Given the description of an element on the screen output the (x, y) to click on. 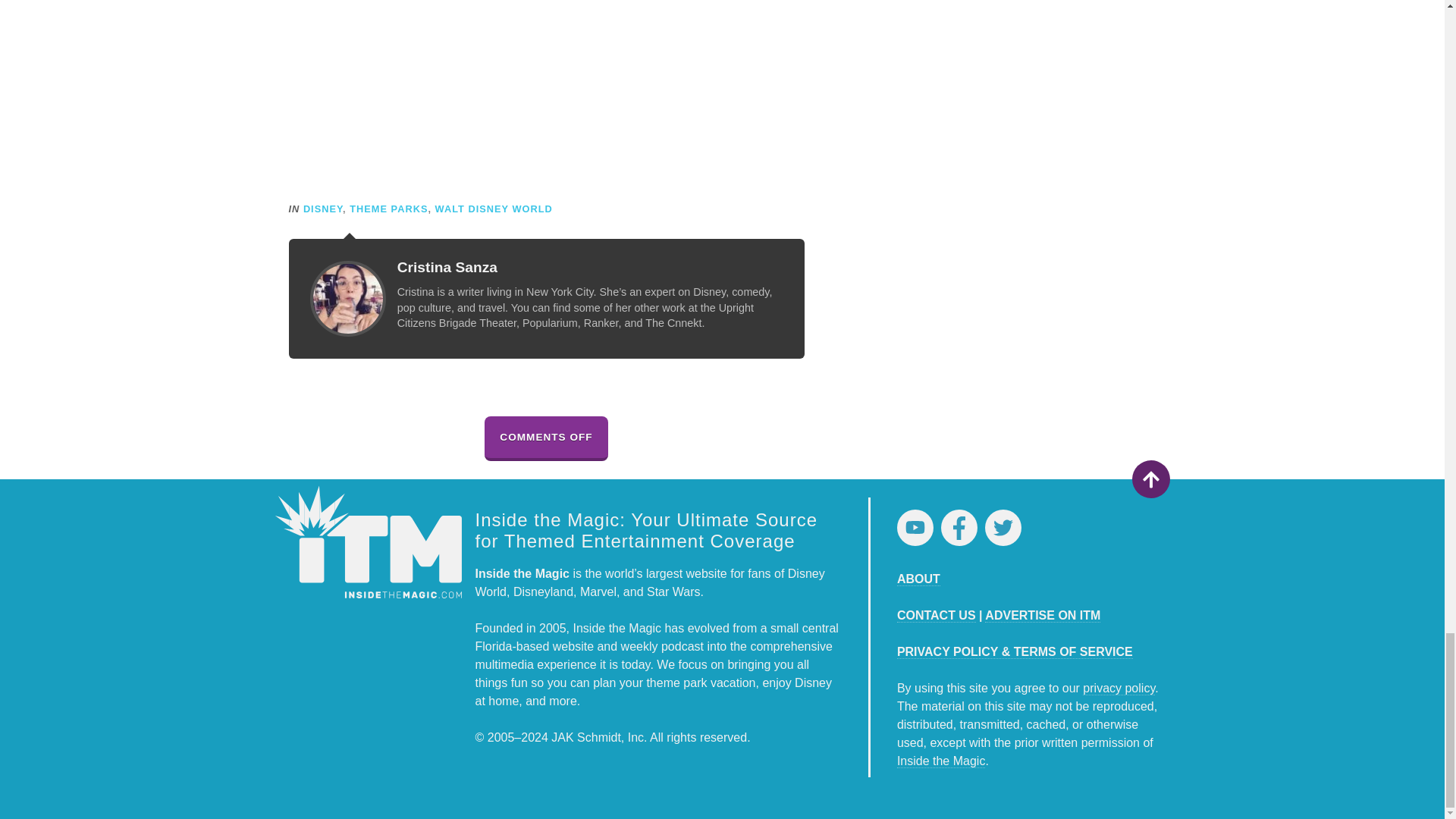
Return to Top (1150, 478)
